Given the description of an element on the screen output the (x, y) to click on. 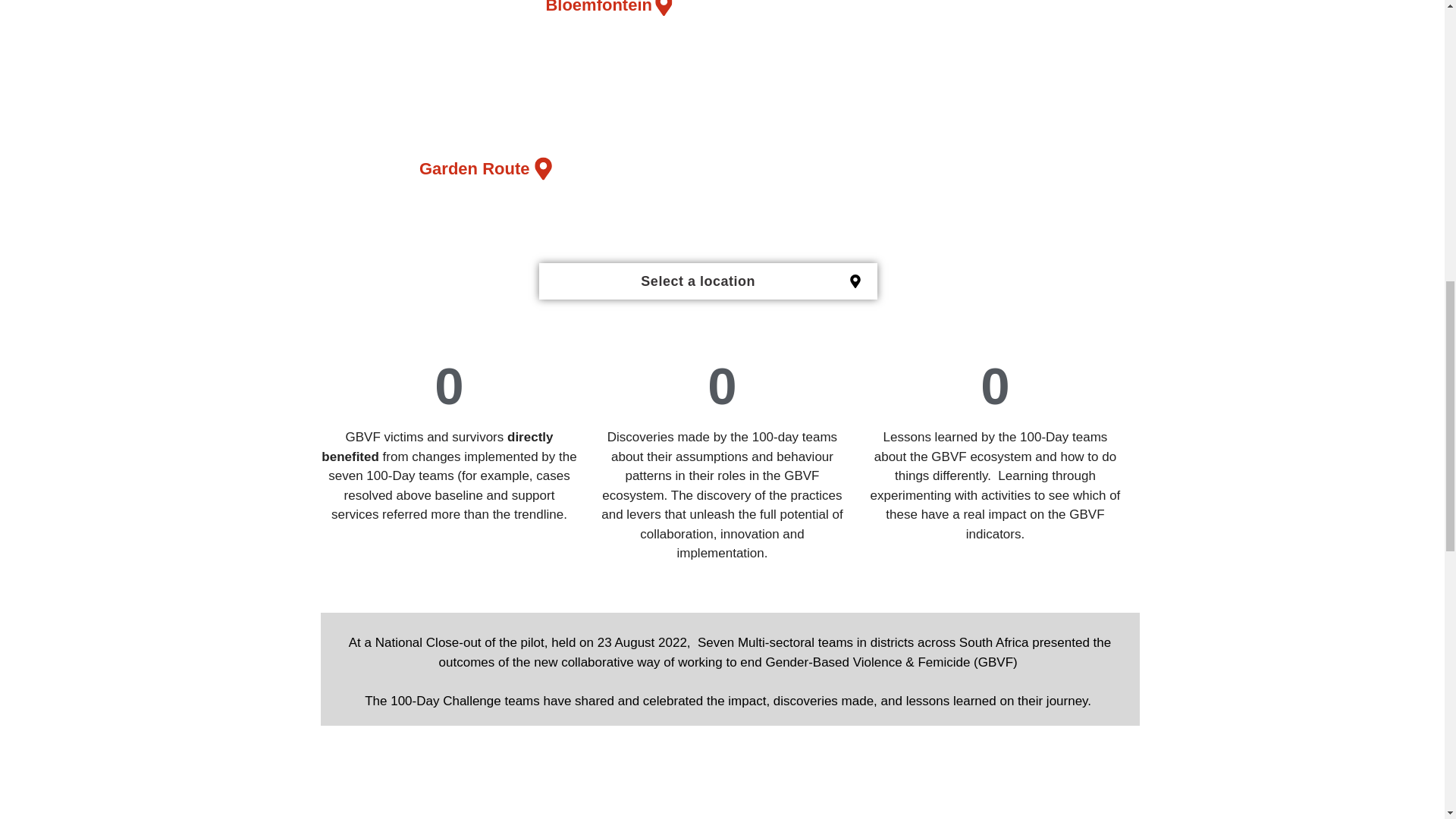
Garden Route (485, 168)
Select a location (697, 281)
Bloemfontein (608, 11)
